Given the description of an element on the screen output the (x, y) to click on. 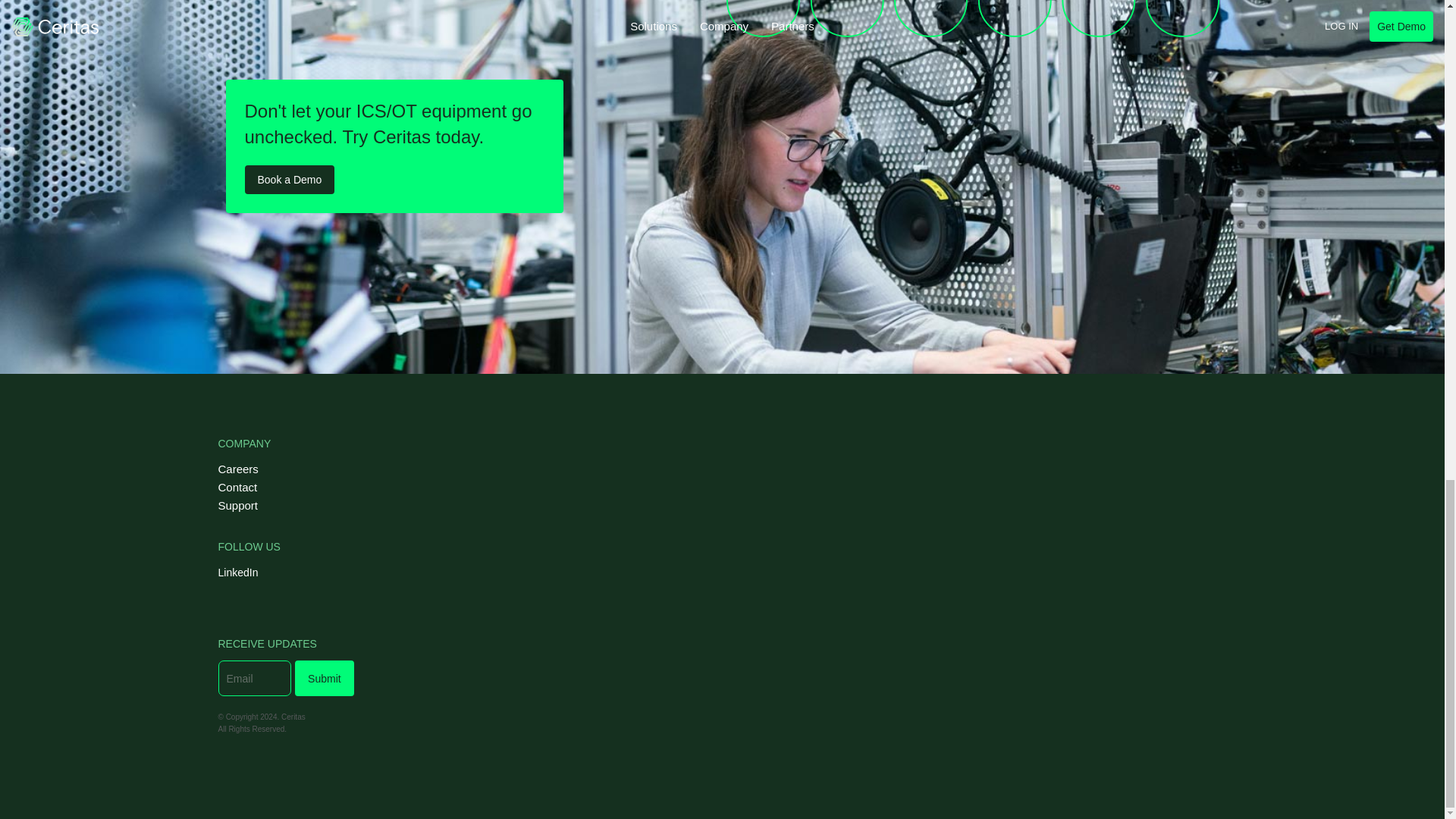
Contact (267, 487)
Submit (324, 678)
Careers (267, 469)
Book a Demo (289, 179)
Support (267, 505)
LinkedIn (238, 572)
